Given the description of an element on the screen output the (x, y) to click on. 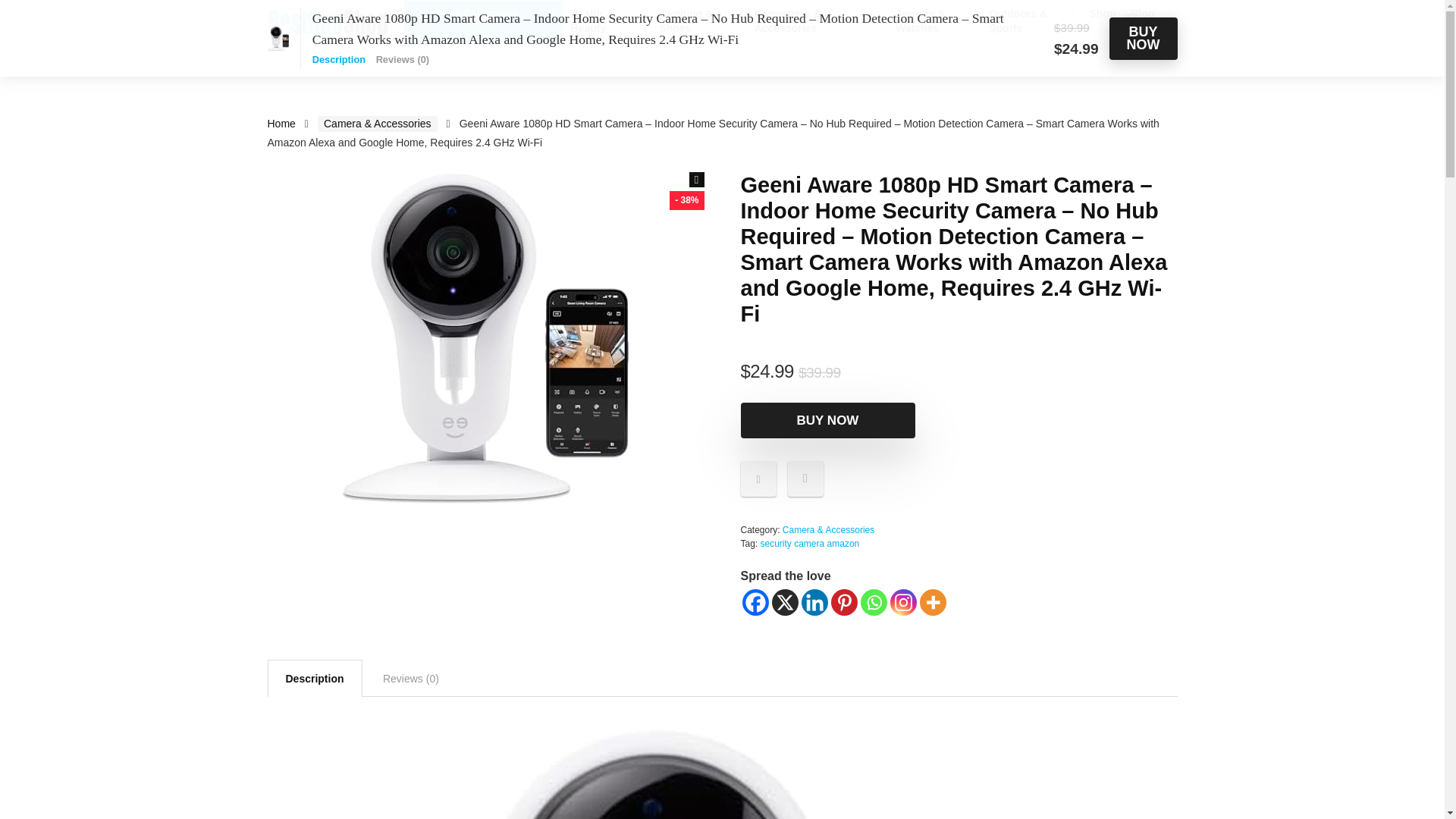
Instagram (903, 601)
X (784, 601)
More (931, 601)
Browse Categories (482, 9)
Pinterest (844, 601)
BUY NOW (826, 420)
Blog (1141, 14)
Shop (1101, 14)
Linkedin (813, 601)
Home (280, 123)
Whatsapp (873, 601)
Facebook (754, 601)
